Given the description of an element on the screen output the (x, y) to click on. 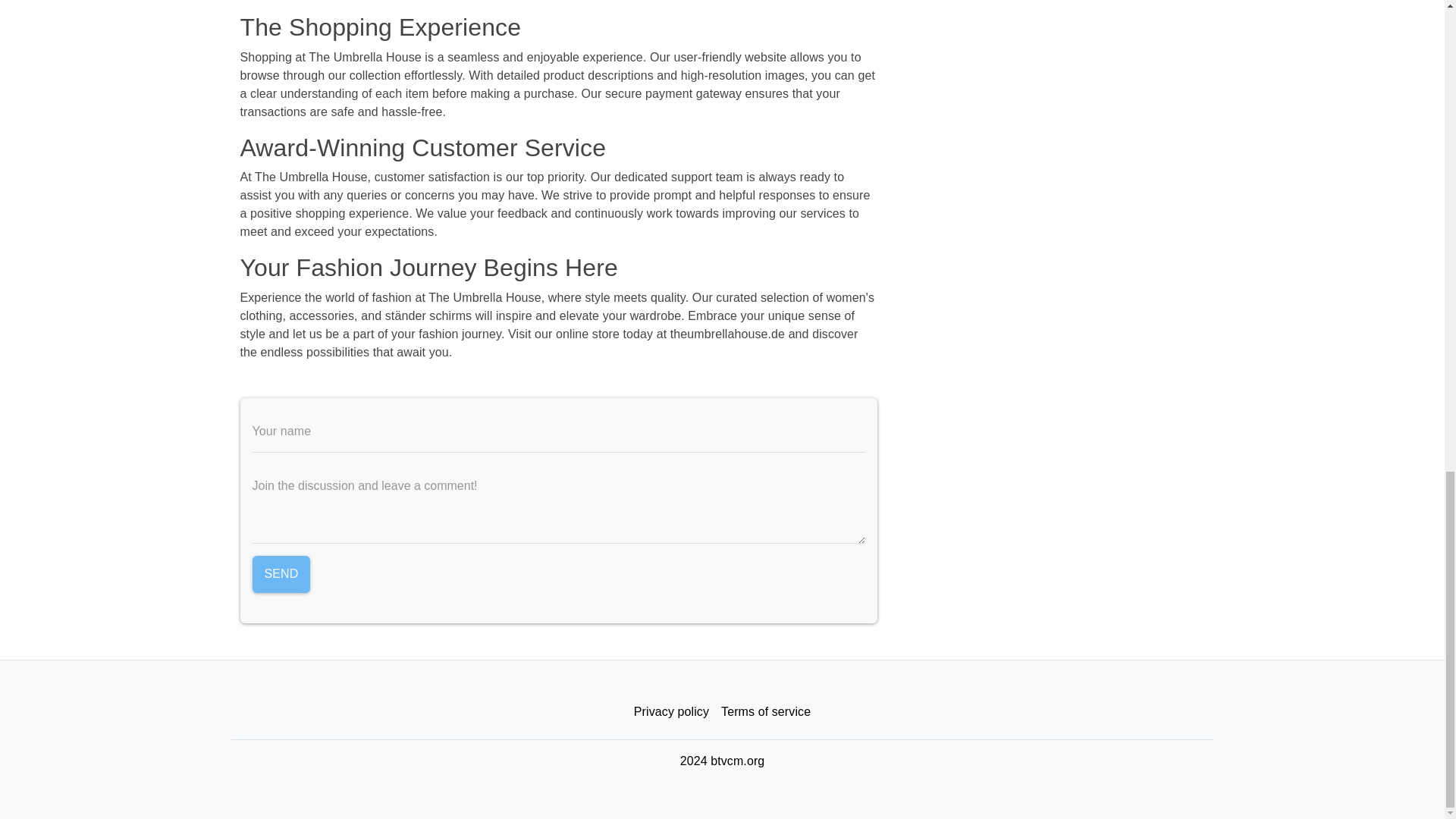
Privacy policy (670, 711)
Send (280, 574)
Terms of service (765, 711)
Send (280, 574)
